Given the description of an element on the screen output the (x, y) to click on. 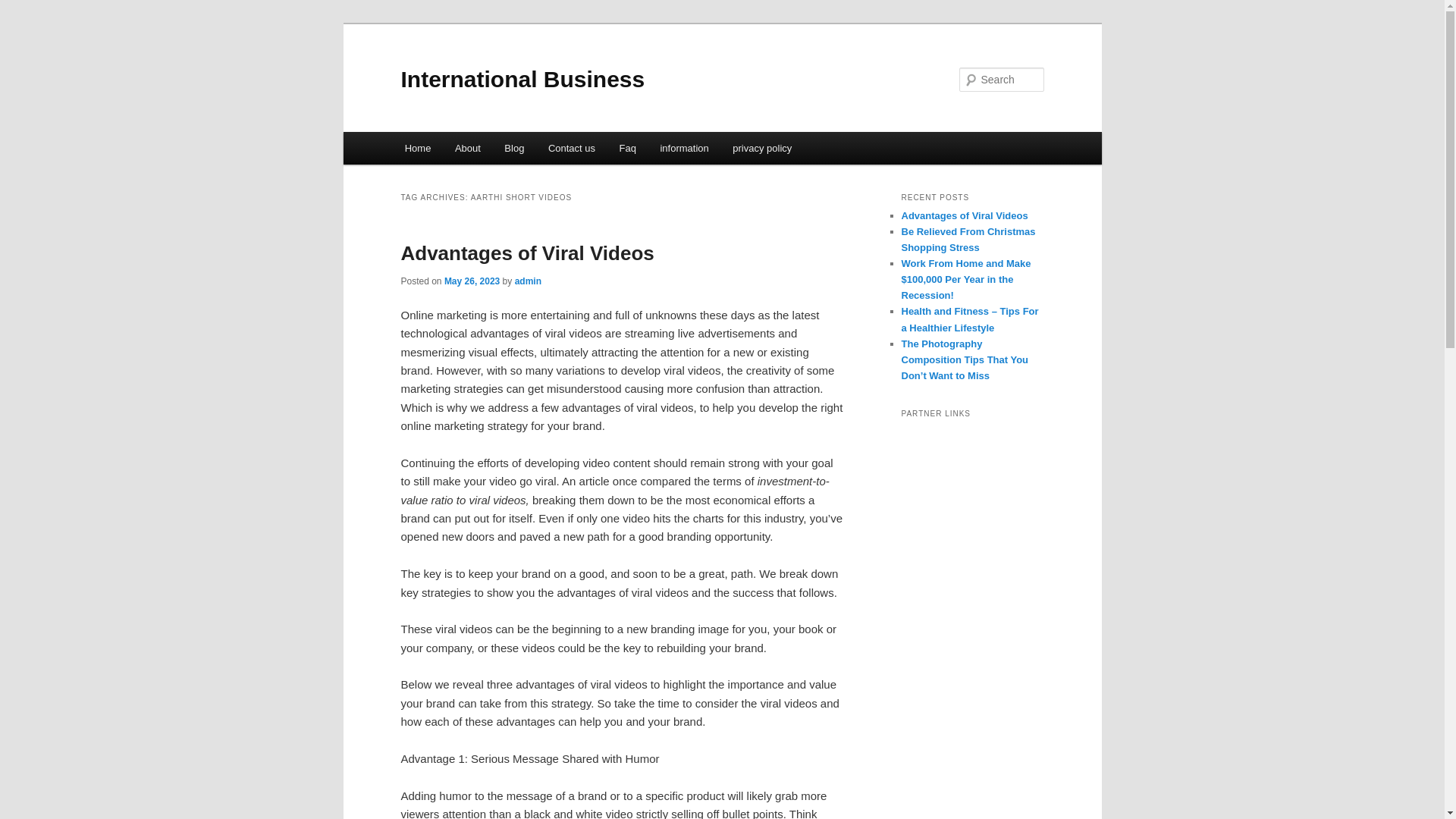
Home (417, 147)
Be Relieved From Christmas Shopping Stress (968, 239)
8:56 pm (471, 281)
About (467, 147)
privacy policy (762, 147)
Contact us (571, 147)
Advantages of Viral Videos (526, 252)
Blog (515, 147)
information (683, 147)
information (683, 147)
